Given the description of an element on the screen output the (x, y) to click on. 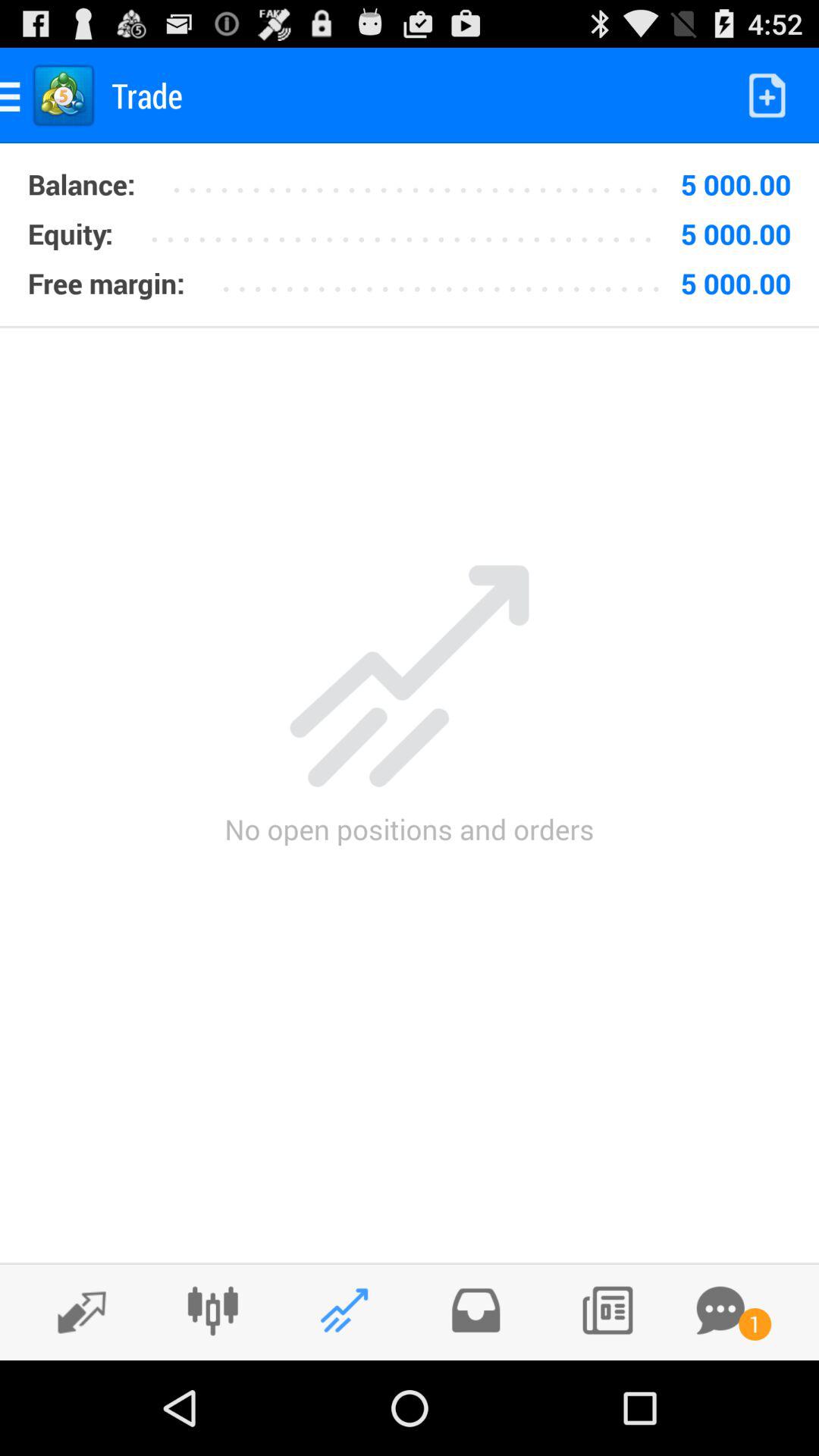
choose icon to the left of 5 000.00 (446, 277)
